Given the description of an element on the screen output the (x, y) to click on. 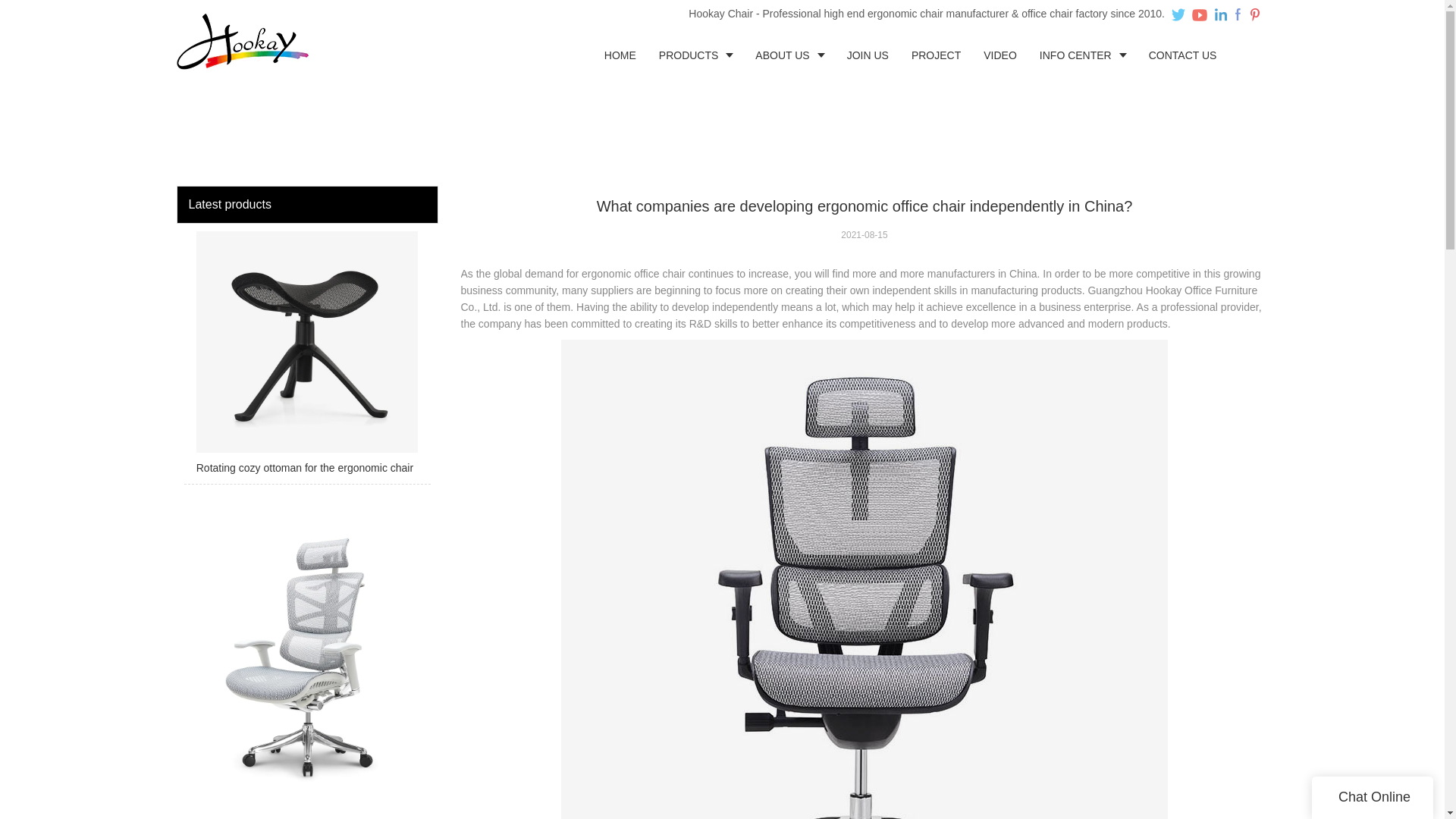
CONTACT US (1182, 55)
INFO CENTER (1082, 55)
PRODUCTS (695, 55)
VIDEO (999, 55)
Rotating cozy ottoman for the ergonomic chair (306, 357)
HOME (619, 55)
PROJECT (935, 55)
JOIN US (867, 55)
ABOUT US (789, 55)
